Given the description of an element on the screen output the (x, y) to click on. 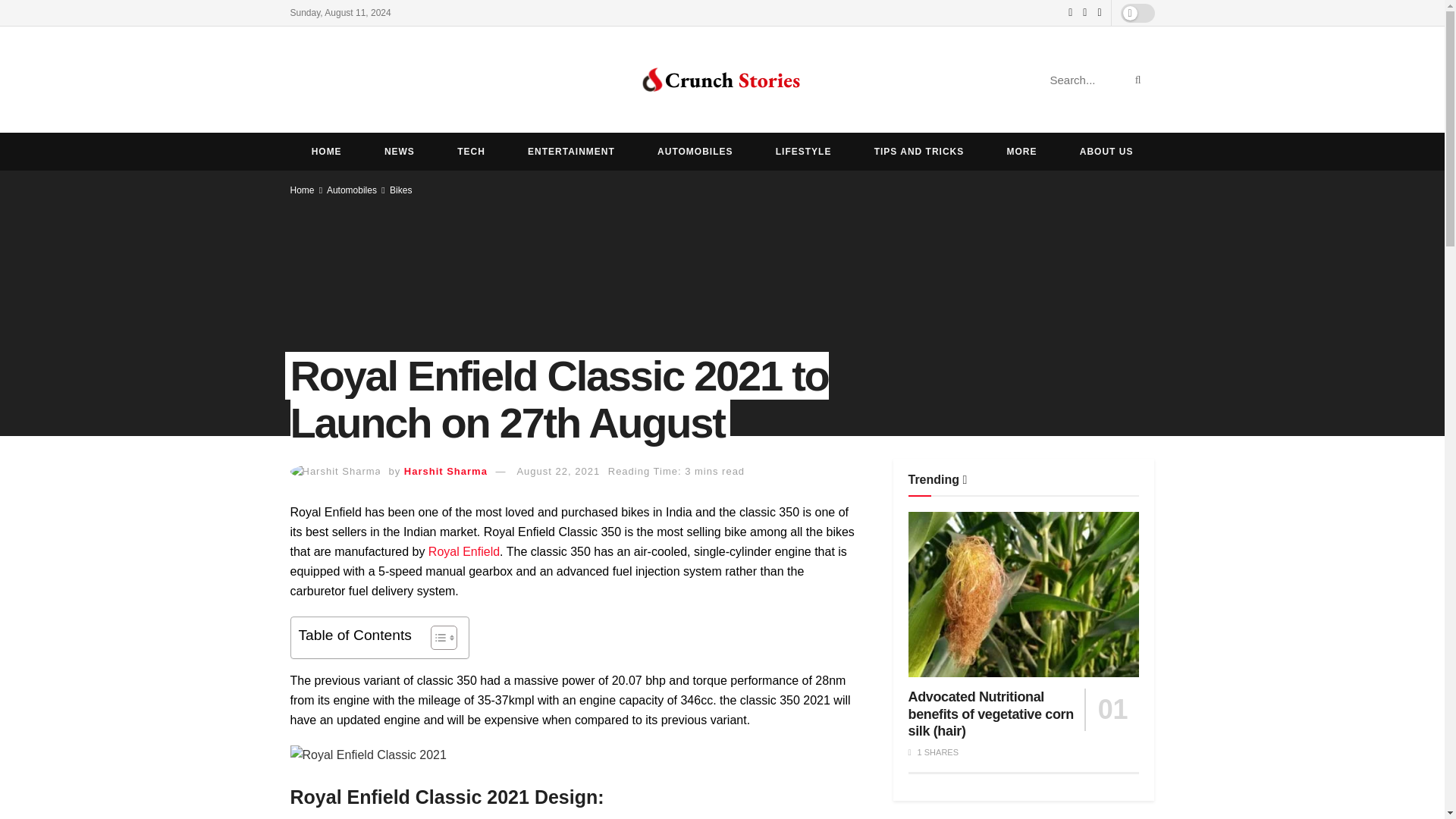
TECH (470, 151)
HOME (325, 151)
MORE (1021, 151)
AUTOMOBILES (695, 151)
ENTERTAINMENT (571, 151)
NEWS (398, 151)
ABOUT US (1106, 151)
LIFESTYLE (803, 151)
TIPS AND TRICKS (919, 151)
